Given the description of an element on the screen output the (x, y) to click on. 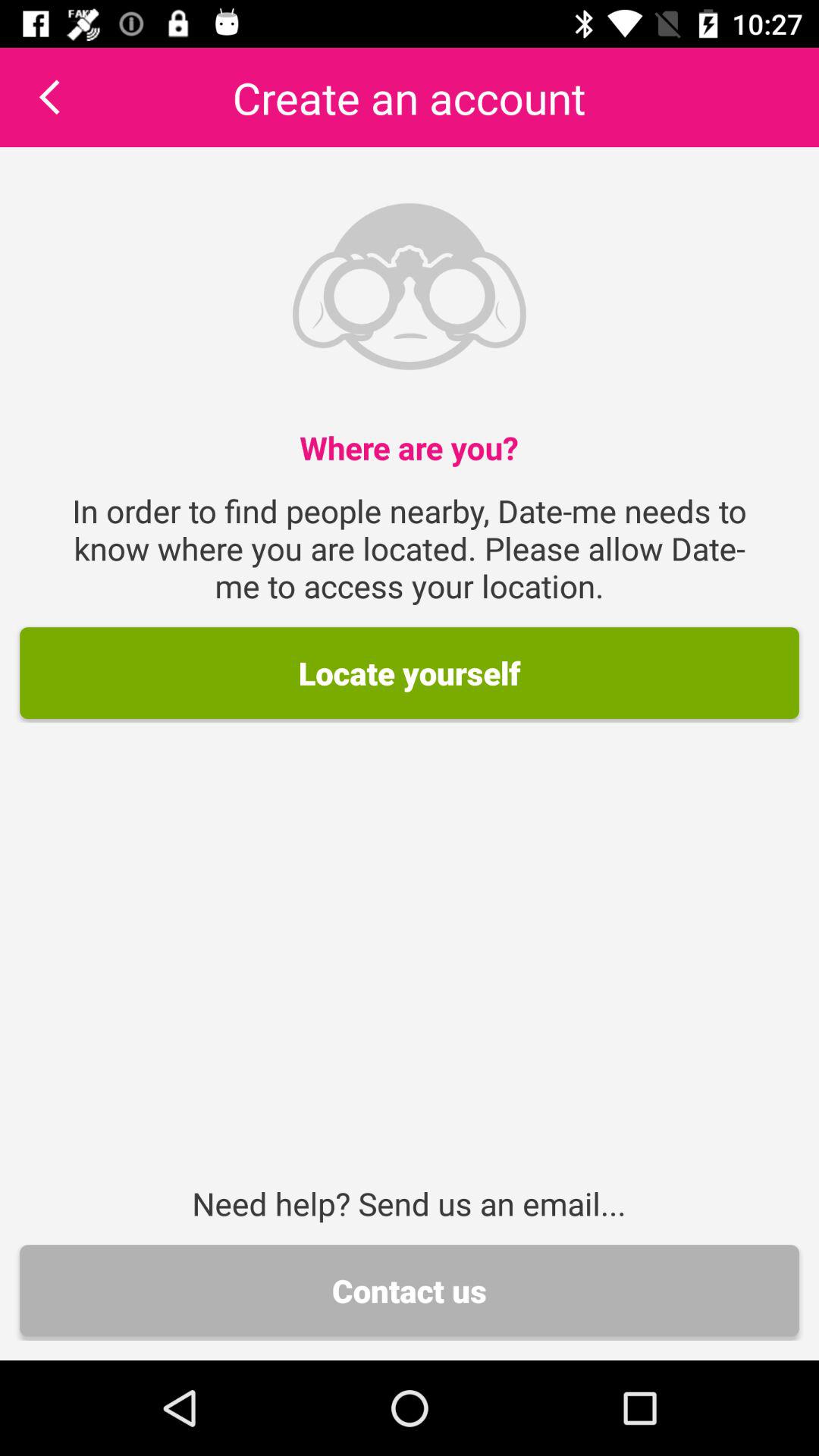
tap icon below the need help send (409, 1290)
